Given the description of an element on the screen output the (x, y) to click on. 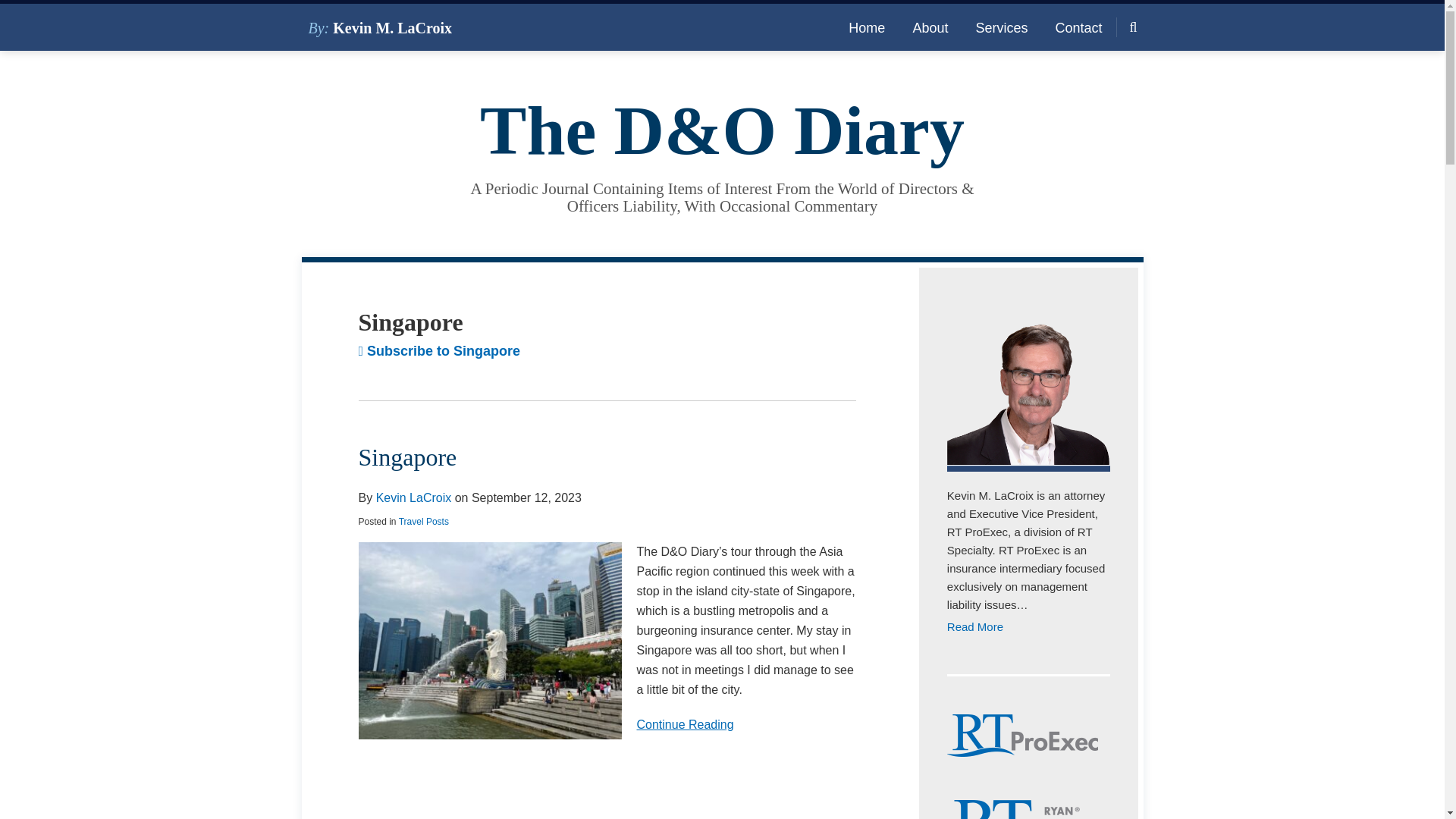
Singapore (407, 456)
Services (1001, 27)
Kevin LaCroix (413, 497)
Read More (1028, 627)
About (929, 27)
Contact (1078, 27)
Home (866, 27)
Subscribe to Singapore (607, 724)
Kevin M. LaCroix (438, 350)
